Given the description of an element on the screen output the (x, y) to click on. 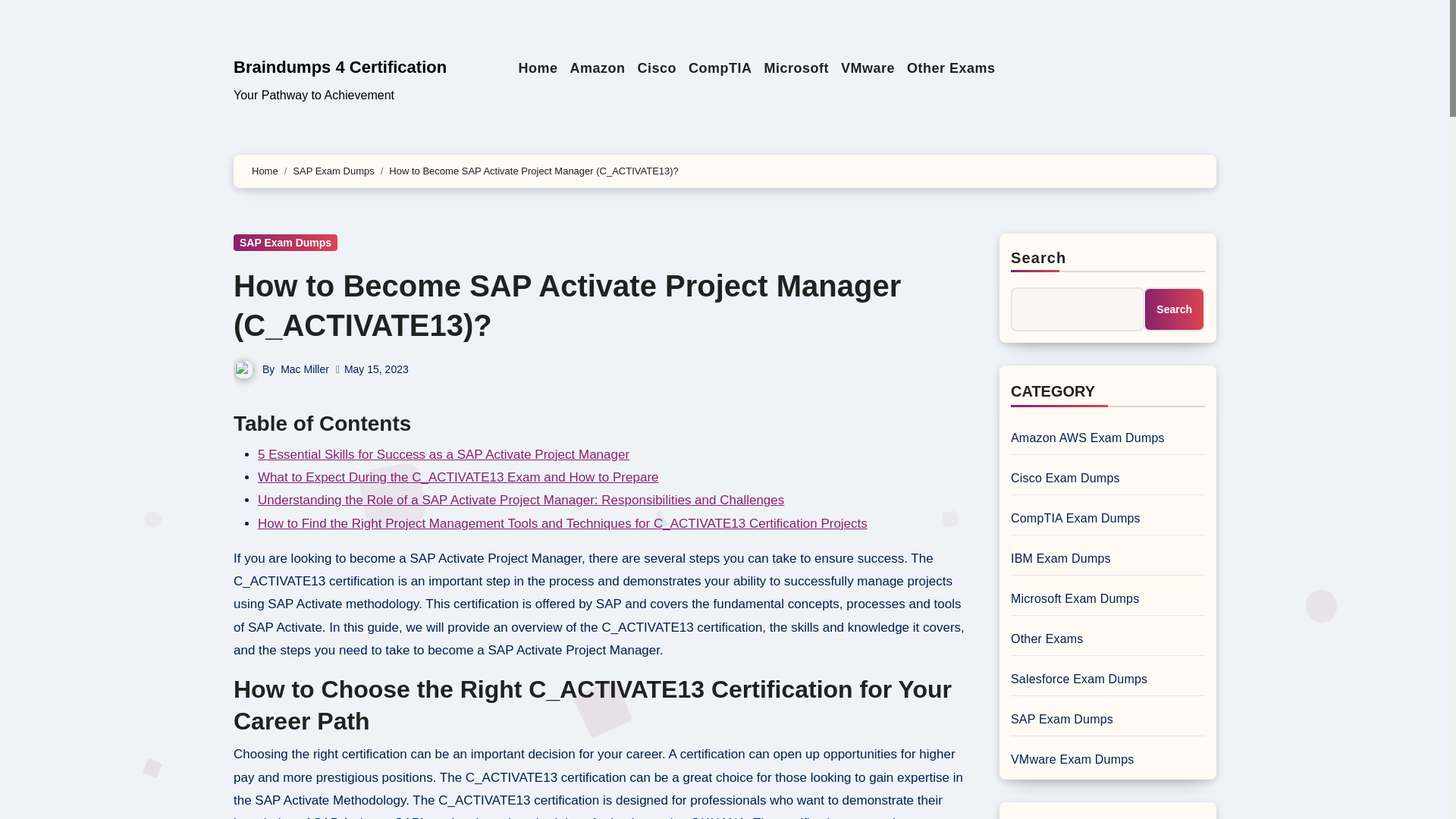
Mac Miller (305, 369)
Home (537, 67)
CompTIA (720, 67)
Microsoft (795, 67)
Microsoft (795, 67)
Amazon (596, 67)
Home (264, 170)
Home (537, 67)
May 15, 2023 (376, 369)
SAP Exam Dumps (284, 242)
Cisco (656, 67)
Braindumps 4 Certification (339, 66)
VMware (867, 67)
SAP Exam Dumps (333, 170)
Other Exams (951, 67)
